Given the description of an element on the screen output the (x, y) to click on. 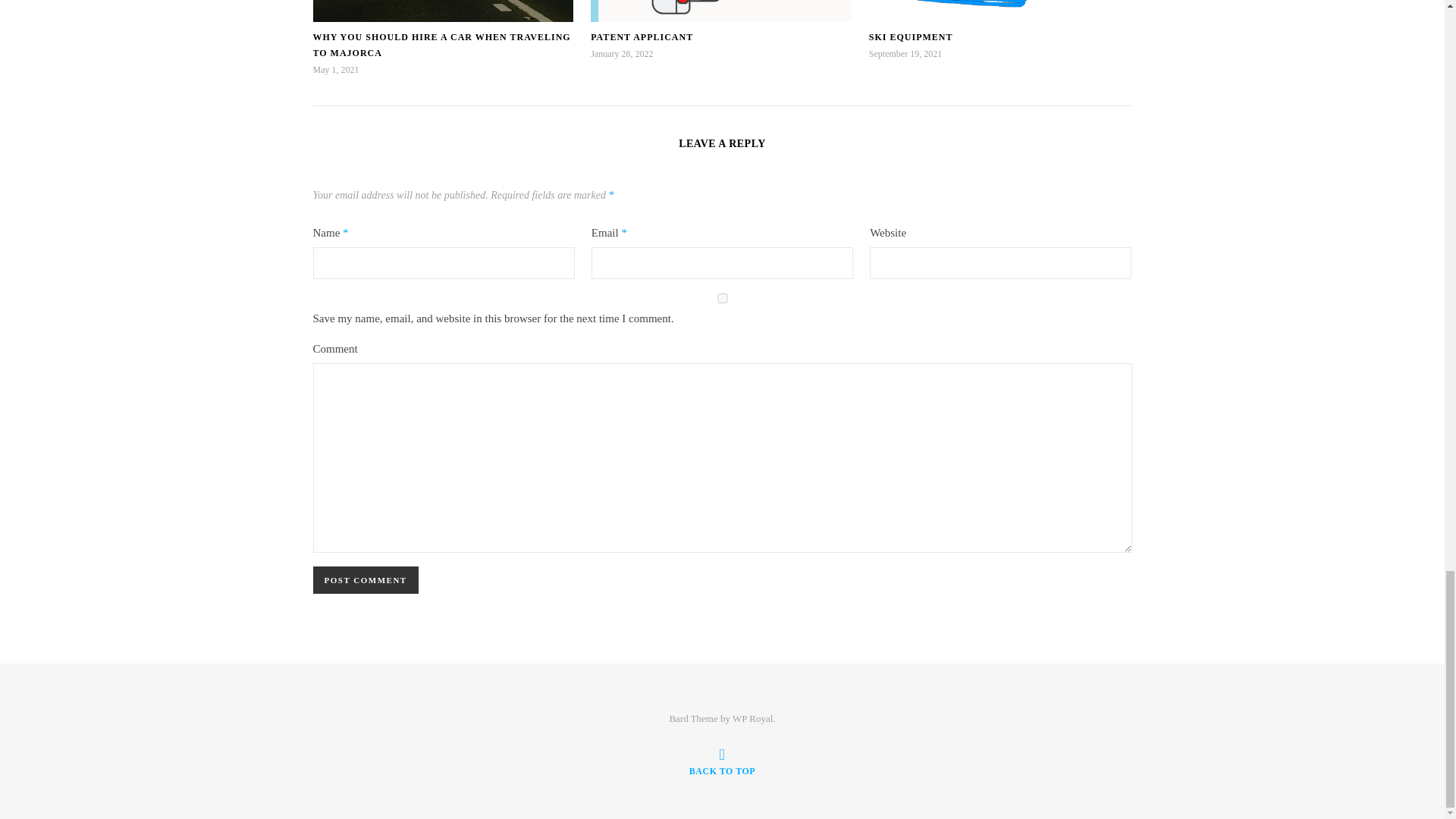
WP Royal (752, 717)
SKI EQUIPMENT (911, 36)
BACK TO TOP (722, 761)
yes (722, 298)
Post Comment (365, 579)
Post Comment (365, 579)
WHY YOU SHOULD HIRE A CAR WHEN TRAVELING TO MAJORCA (441, 44)
PATENT APPLICANT (642, 36)
